Given the description of an element on the screen output the (x, y) to click on. 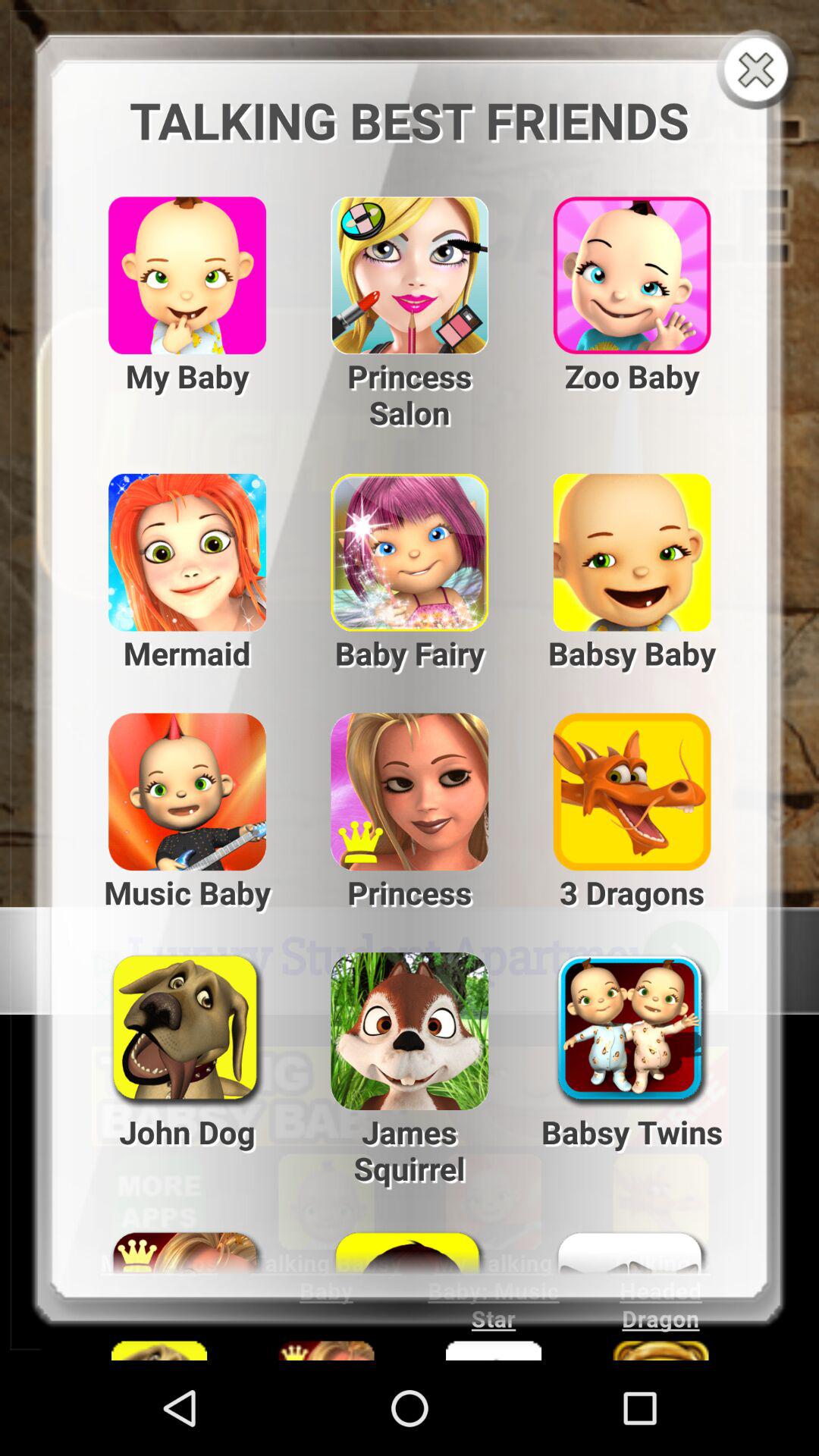
close box (759, 71)
